Given the description of an element on the screen output the (x, y) to click on. 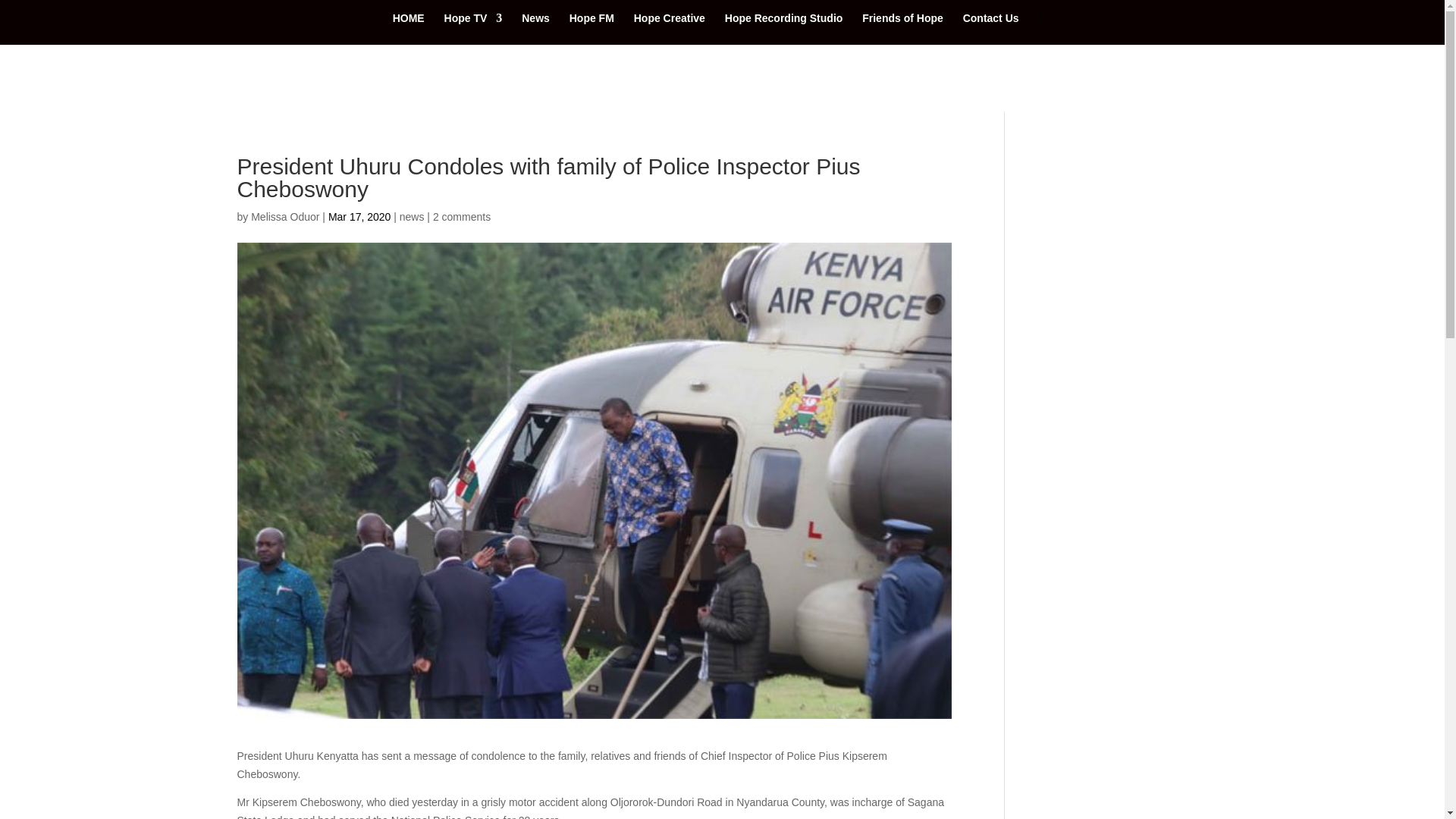
Hope FM (591, 29)
news (411, 216)
Hope Creative (668, 29)
Contact Us (990, 29)
Friends of Hope (902, 29)
Melissa Oduor (284, 216)
2 comments (461, 216)
Hope Recording Studio (784, 29)
Hope TV (473, 29)
Posts by Melissa Oduor (284, 216)
